Given the description of an element on the screen output the (x, y) to click on. 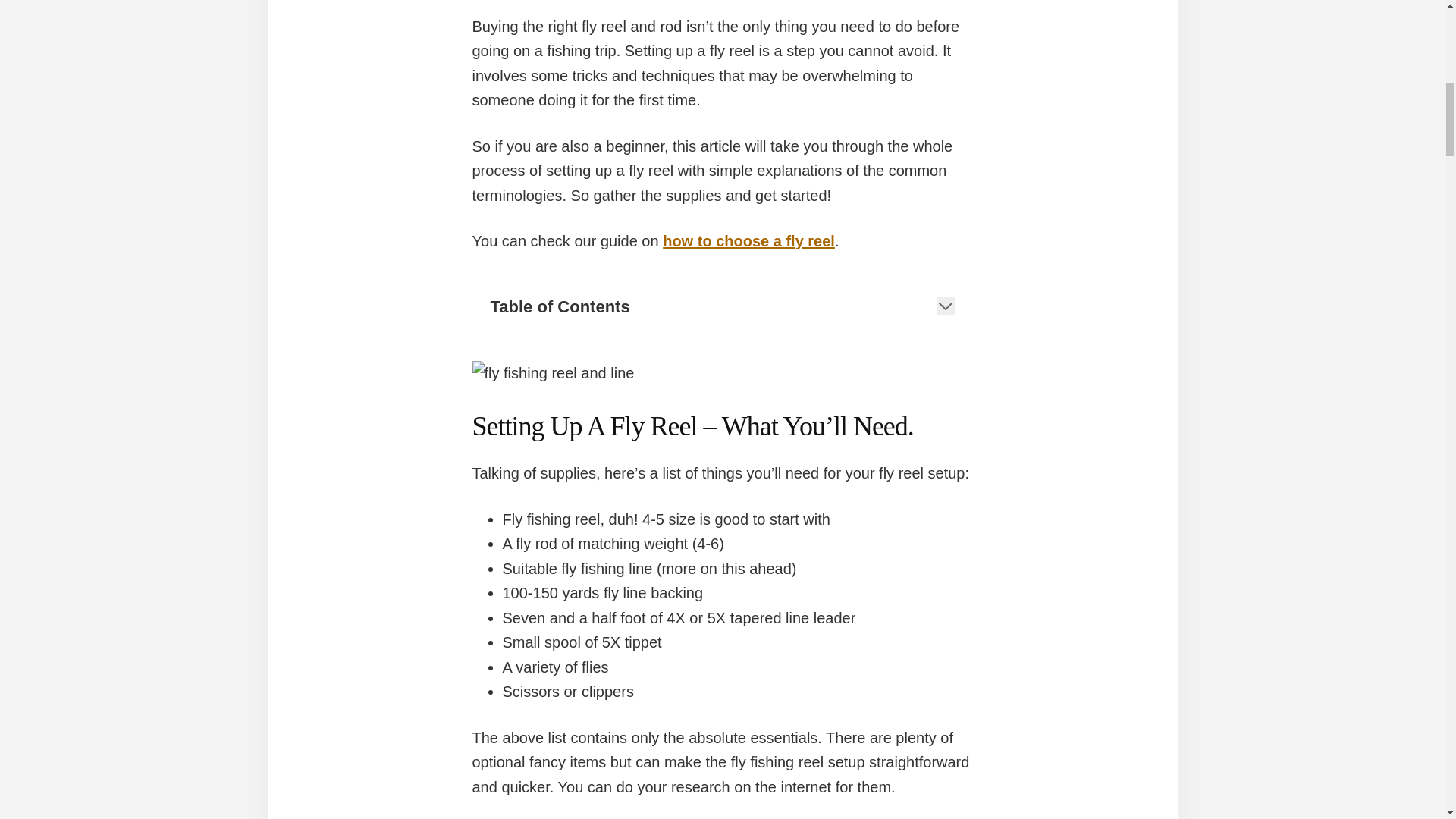
how to choose a fly reel (748, 240)
